Given the description of an element on the screen output the (x, y) to click on. 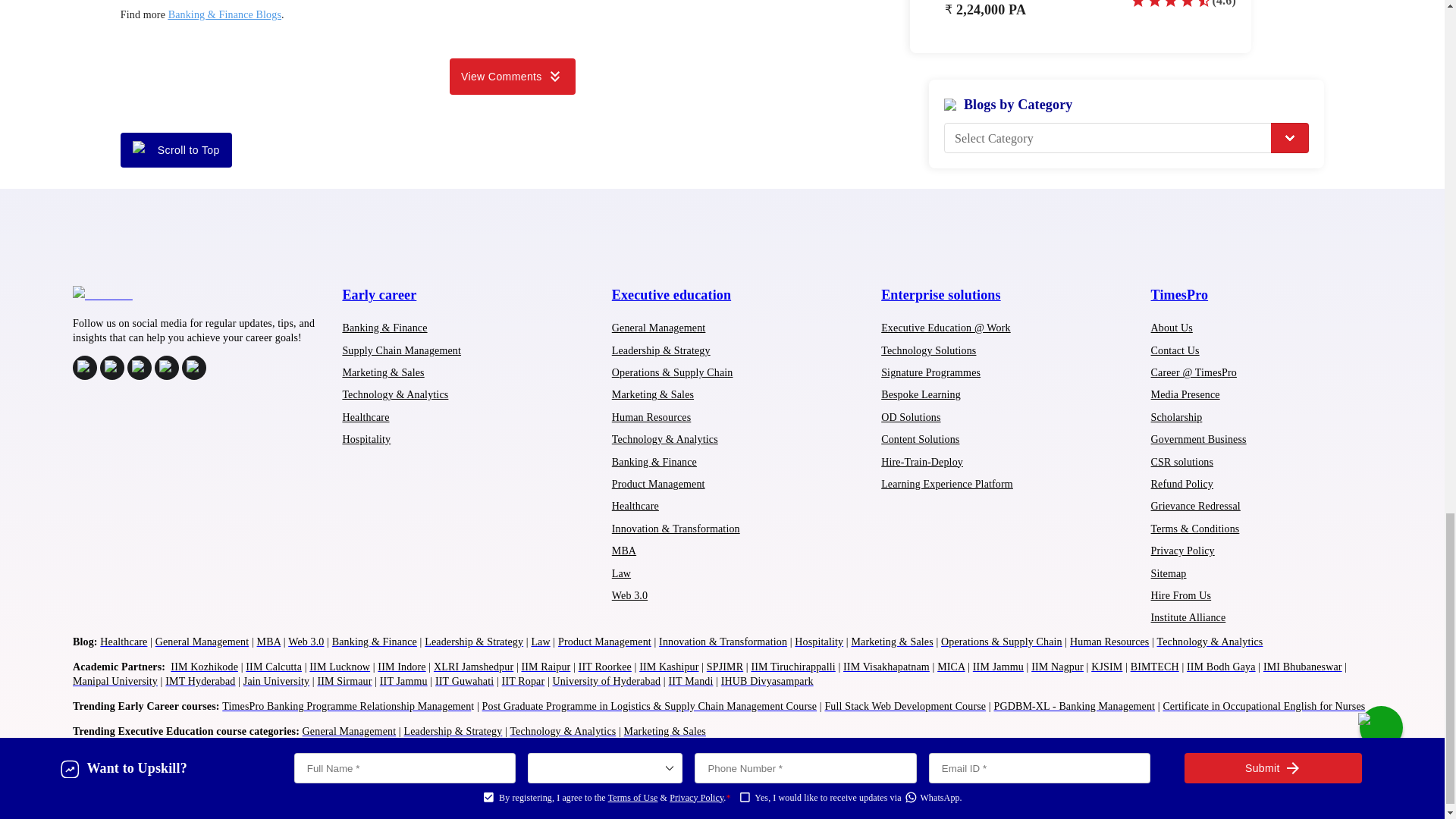
Human Resources (651, 417)
Scroll to Top (175, 149)
Early career (379, 294)
Executive education (670, 294)
Supply Chain Management (401, 350)
Hospitality (366, 439)
Healthcare (365, 417)
View Comments (512, 76)
General Management (658, 327)
